Given the description of an element on the screen output the (x, y) to click on. 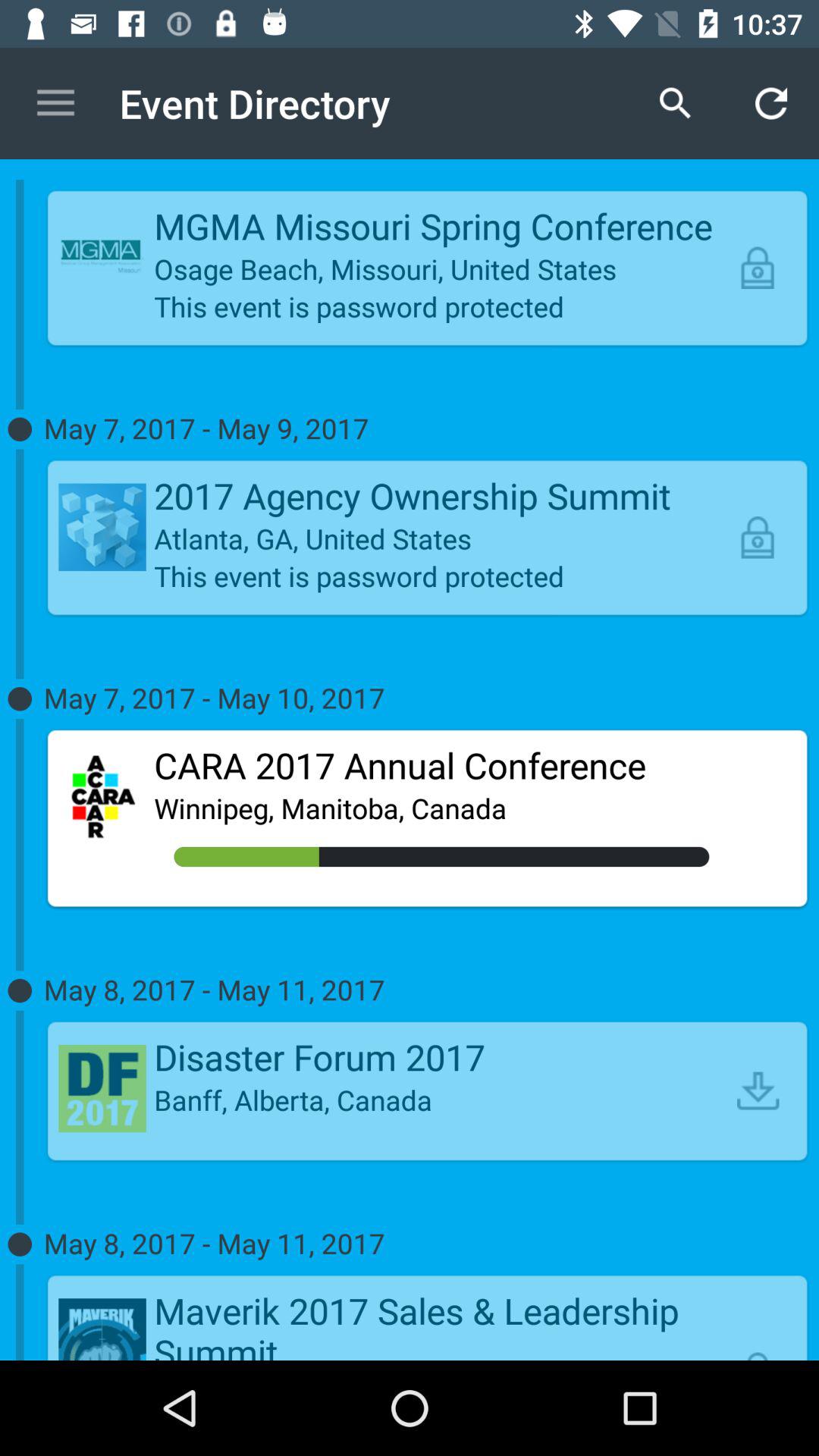
turn off icon above banff, alberta, canada icon (441, 1056)
